Given the description of an element on the screen output the (x, y) to click on. 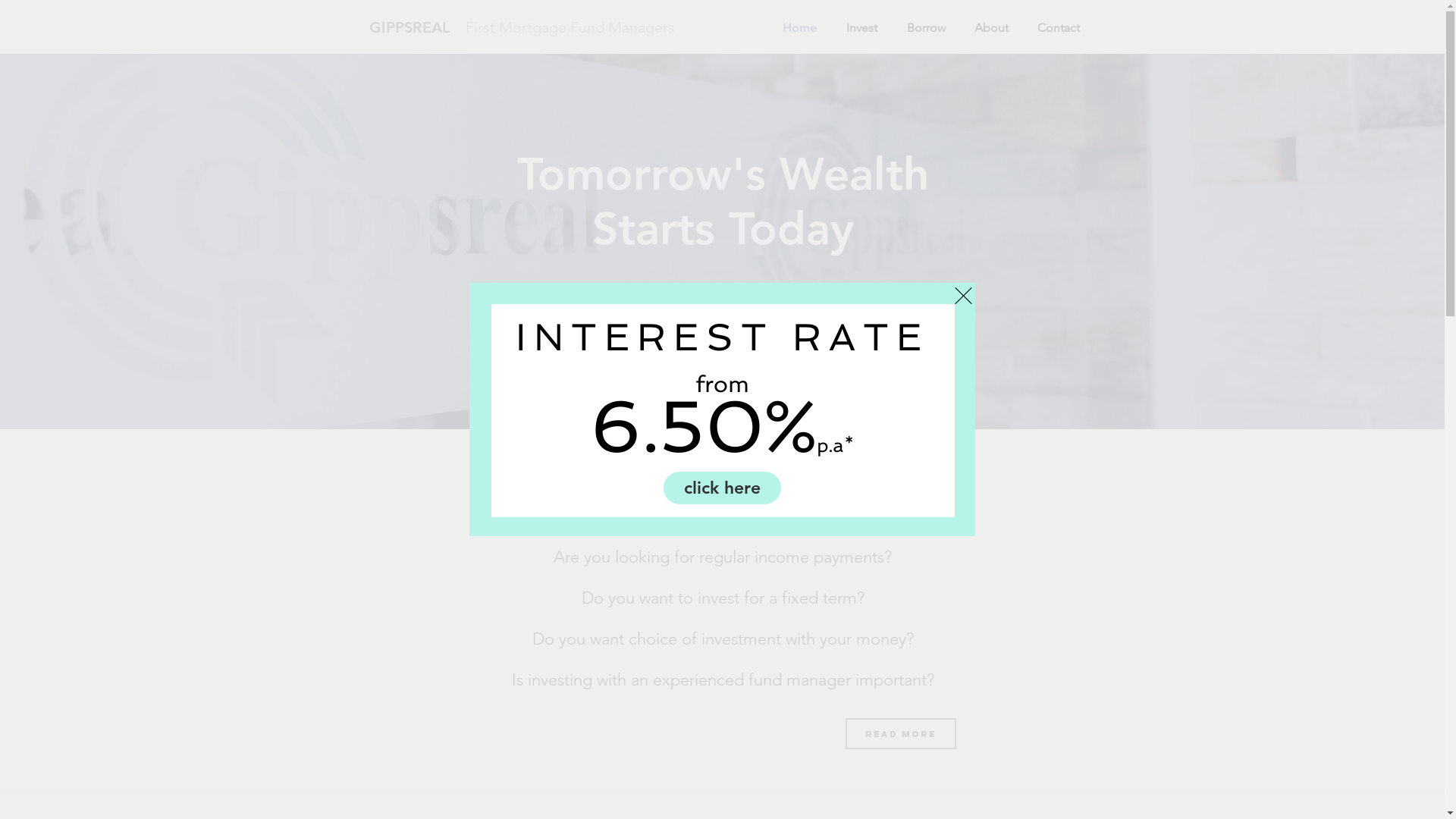
Read More Element type: text (899, 733)
Invest Element type: text (627, 360)
GIPPSREAL Element type: text (408, 27)
click here Element type: text (722, 487)
About Element type: text (991, 27)
Borrow Element type: text (818, 360)
Borrow Element type: text (925, 27)
Home Element type: text (799, 27)
Invest Element type: text (861, 27)
Back to site Element type: hover (963, 295)
Contact Element type: text (1057, 27)
